Given the description of an element on the screen output the (x, y) to click on. 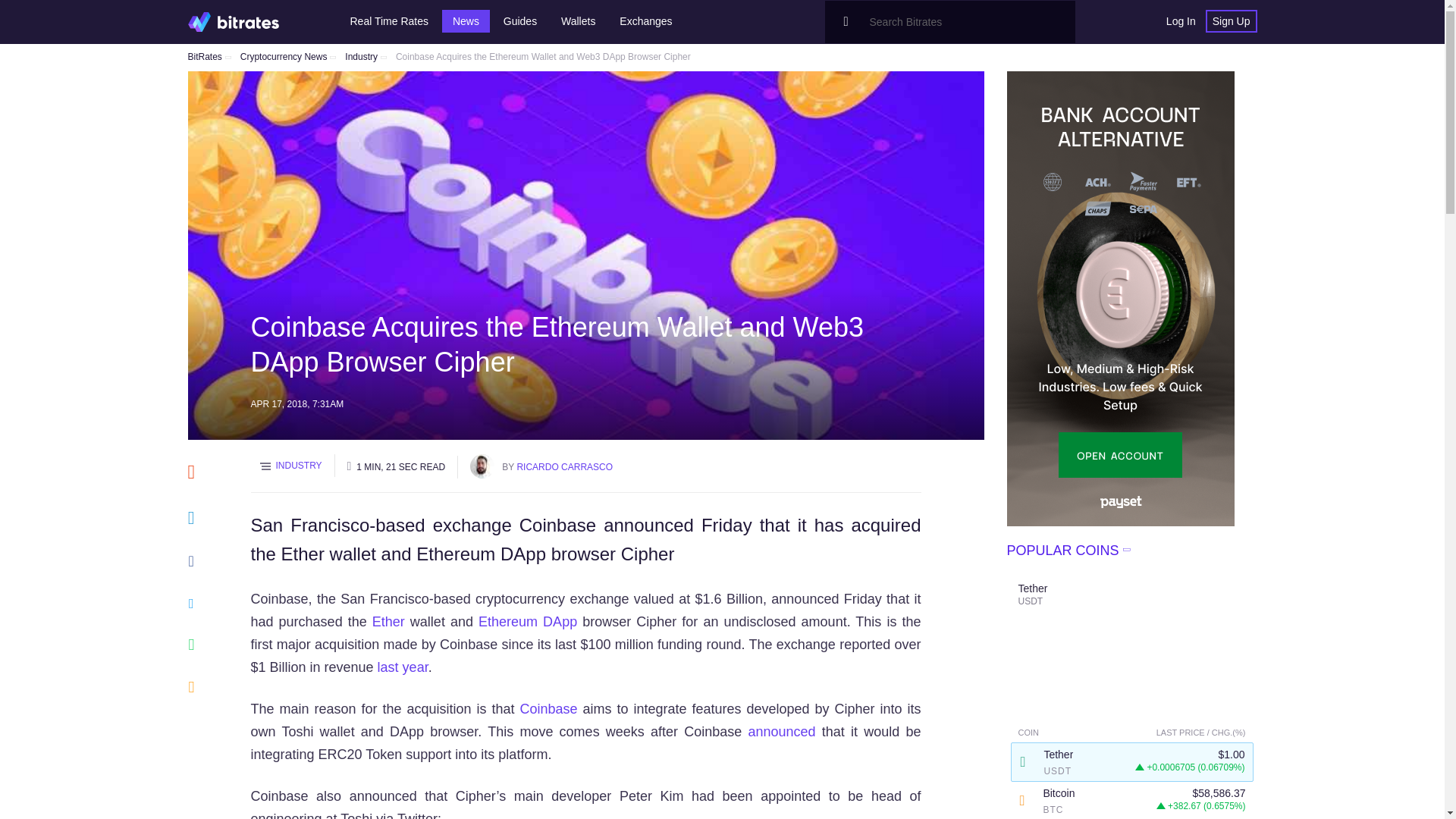
News (465, 20)
Ethereum Live Price (388, 621)
Coinbase acquires Cipher (402, 667)
Real Time Rates (389, 20)
Coinbase Cipher merger (781, 731)
Wallets (577, 20)
Guides (520, 20)
Login (1180, 20)
Exchanges (645, 20)
Bitrates (233, 21)
